Given the description of an element on the screen output the (x, y) to click on. 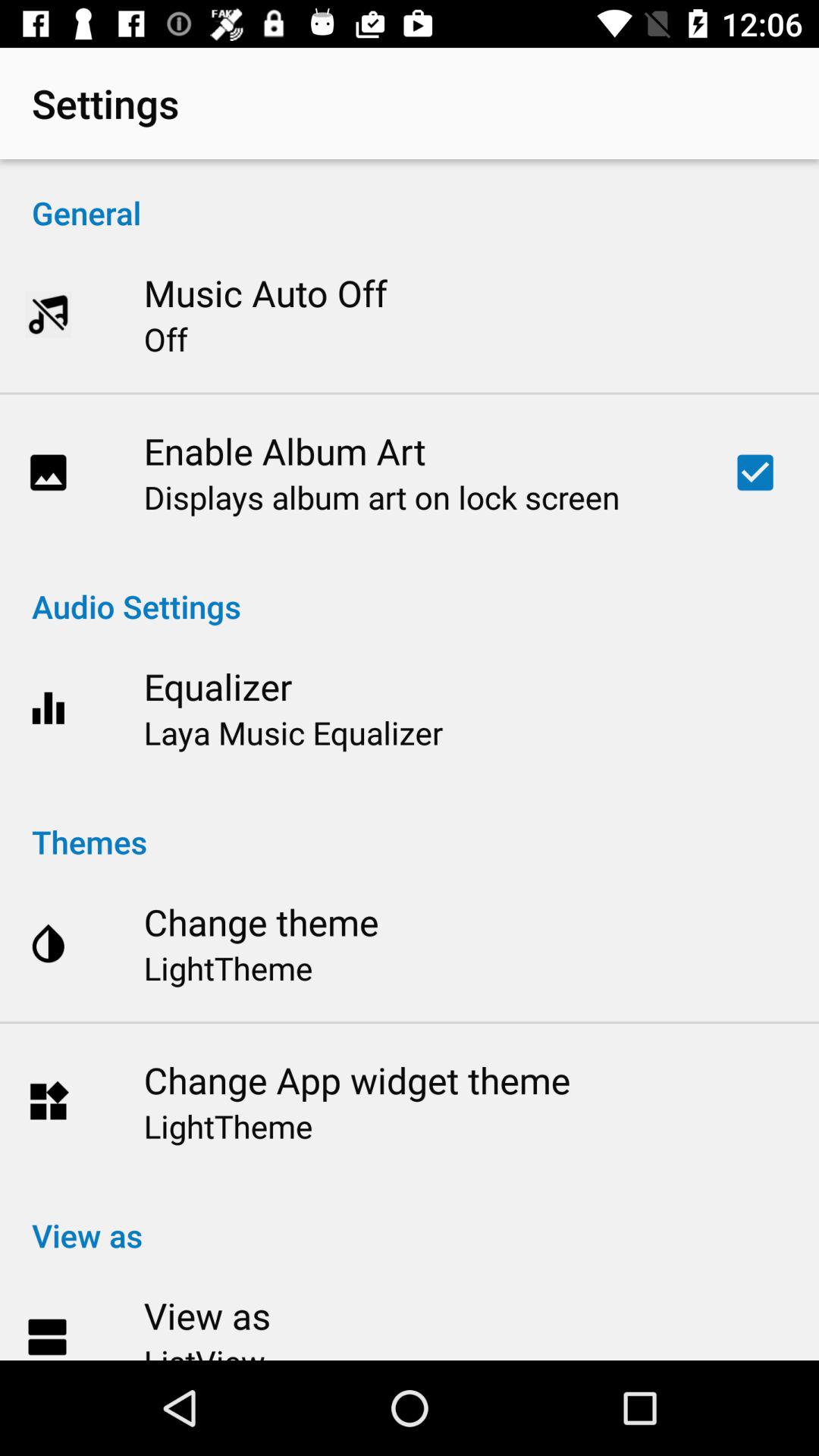
select the icon above change theme icon (409, 825)
